Given the description of an element on the screen output the (x, y) to click on. 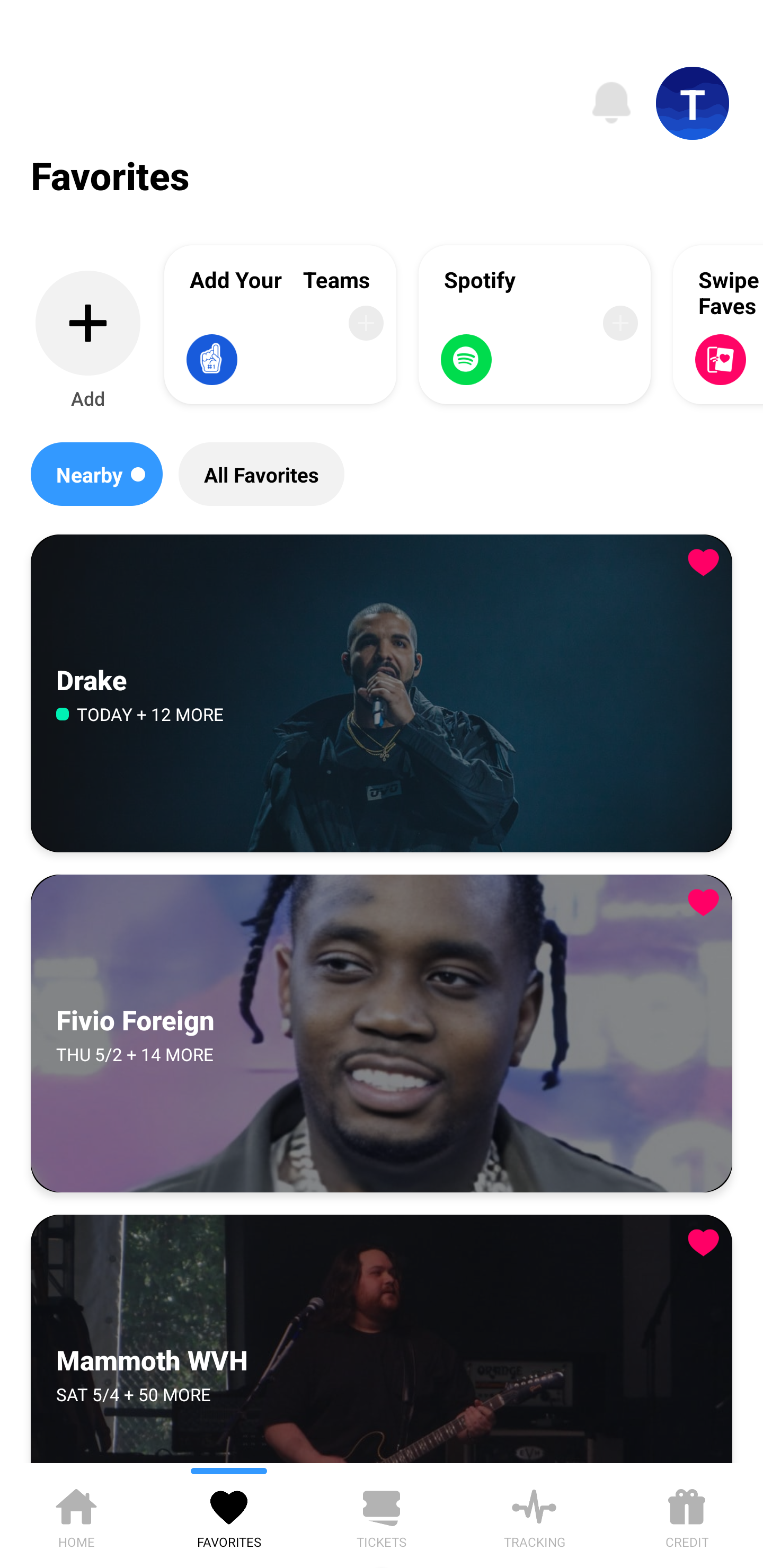
T (692, 103)
Add Your    Teams (279, 324)
Spotify (534, 324)
Add (87, 340)
Nearby (96, 474)
All Favorites (261, 474)
Drake, TODAY + 12 MORE  Drake TODAY + 12 MORE  (381, 693)
HOME (76, 1515)
FAVORITES (228, 1515)
TICKETS (381, 1515)
TRACKING (533, 1515)
CREDIT (686, 1515)
